Given the description of an element on the screen output the (x, y) to click on. 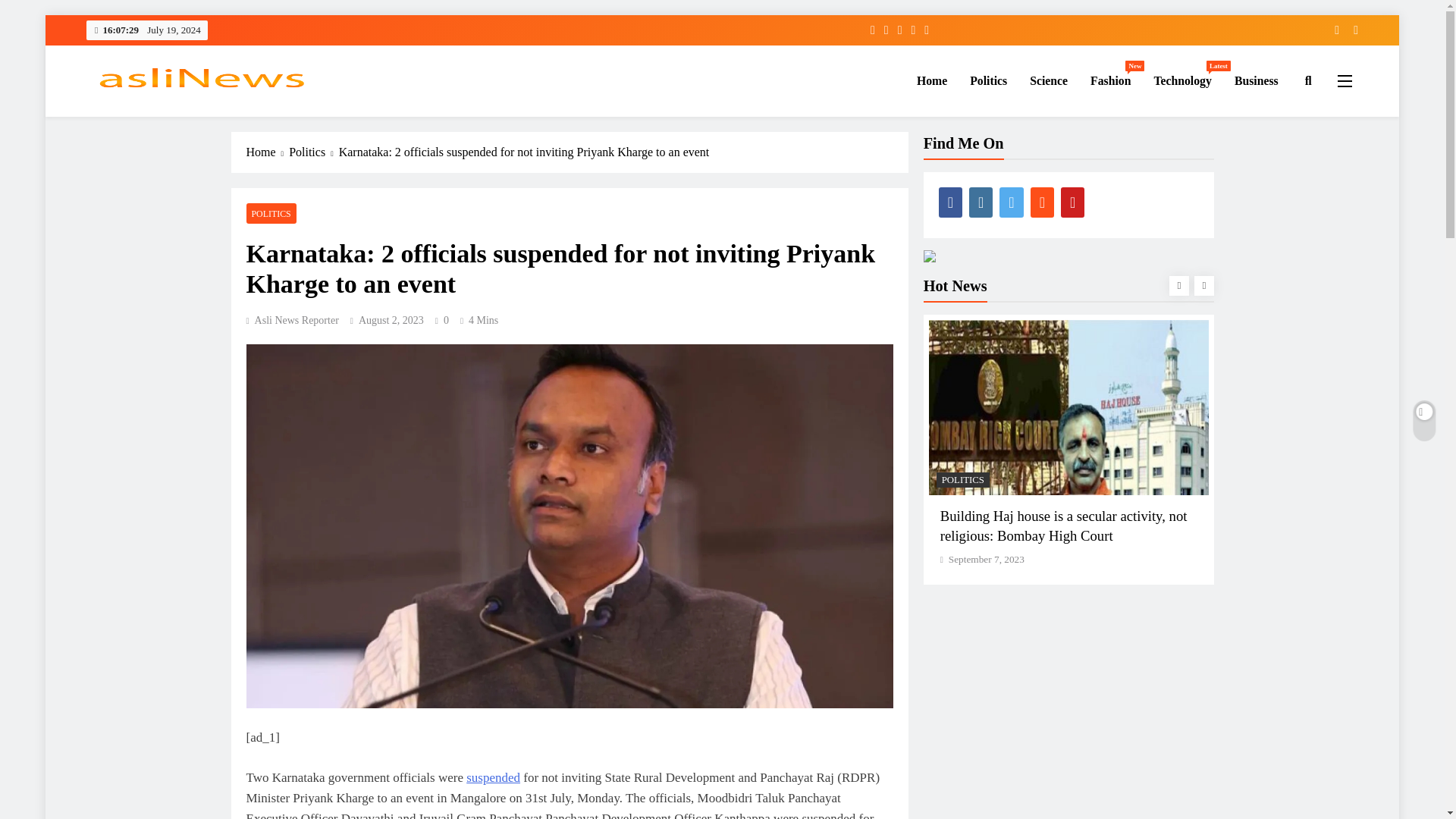
Business (1256, 80)
Politics (987, 80)
Science (1047, 80)
Home (1182, 80)
Skip to content (931, 80)
aslinews.com (1109, 80)
